Given the description of an element on the screen output the (x, y) to click on. 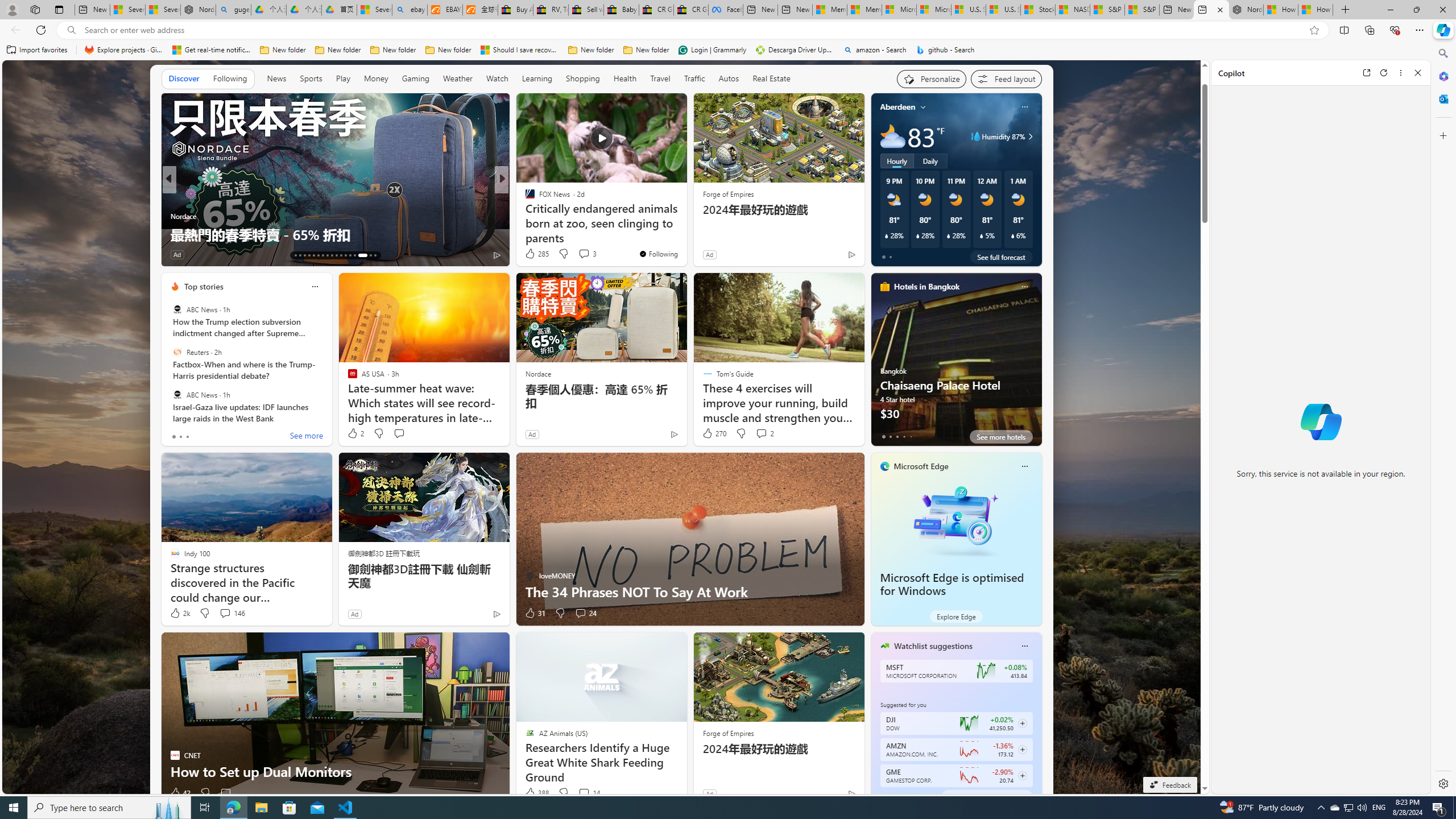
Watch (496, 78)
Weather (457, 79)
App bar (728, 29)
Travel (660, 79)
Personalize your feed" (931, 78)
Dislike (563, 792)
Buy Auto Parts & Accessories | eBay (515, 9)
Daily (929, 160)
Aberdeen (897, 106)
Ad (708, 793)
31 Like (534, 612)
S&P 500, Nasdaq end lower, weighed by Nvidia dip | Watch (1141, 9)
